Given the description of an element on the screen output the (x, y) to click on. 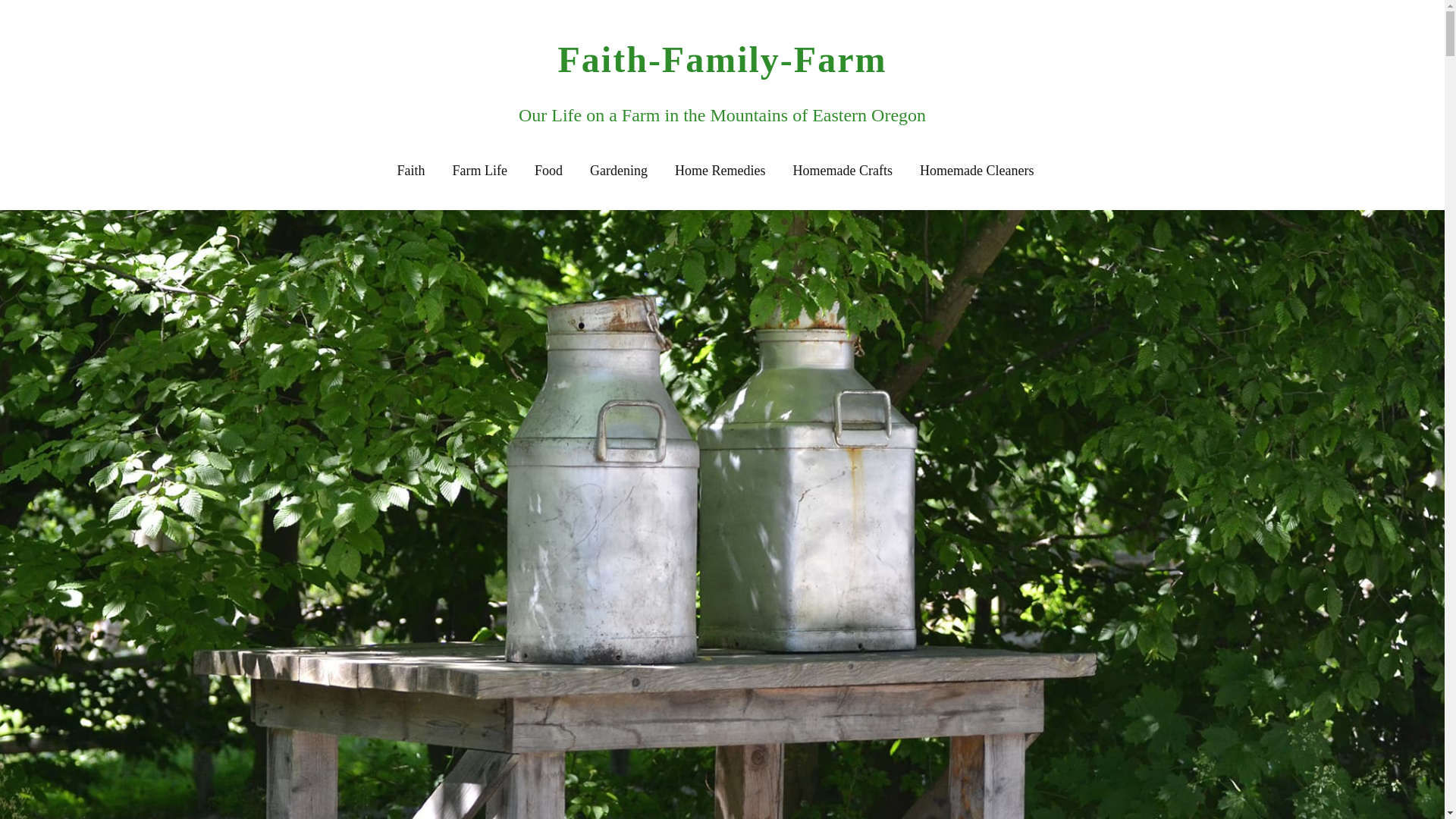
Homemade Crafts (842, 171)
Food (548, 171)
Farm Life (479, 171)
Home Remedies (720, 171)
Gardening (618, 171)
Faith (411, 171)
Faith-Family-Farm (721, 59)
Homemade Cleaners (976, 171)
